Given the description of an element on the screen output the (x, y) to click on. 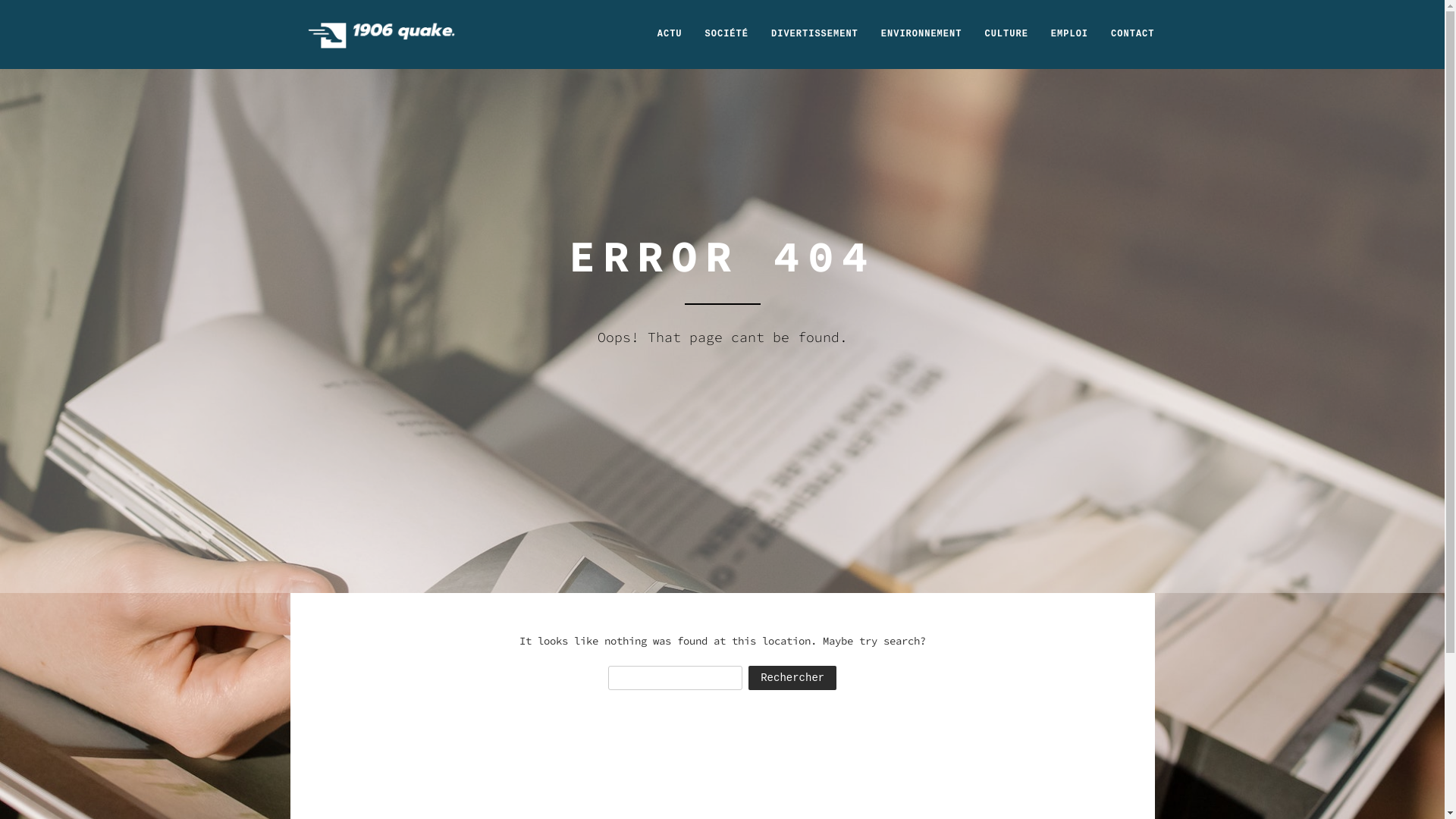
CONTACT Element type: text (1132, 34)
ENVIRONNEMENT Element type: text (921, 34)
Rechercher Element type: text (792, 677)
CULTURE Element type: text (1005, 34)
EMPLOI Element type: text (1069, 34)
DIVERTISSEMENT Element type: text (814, 34)
ACTU Element type: text (669, 34)
